Given the description of an element on the screen output the (x, y) to click on. 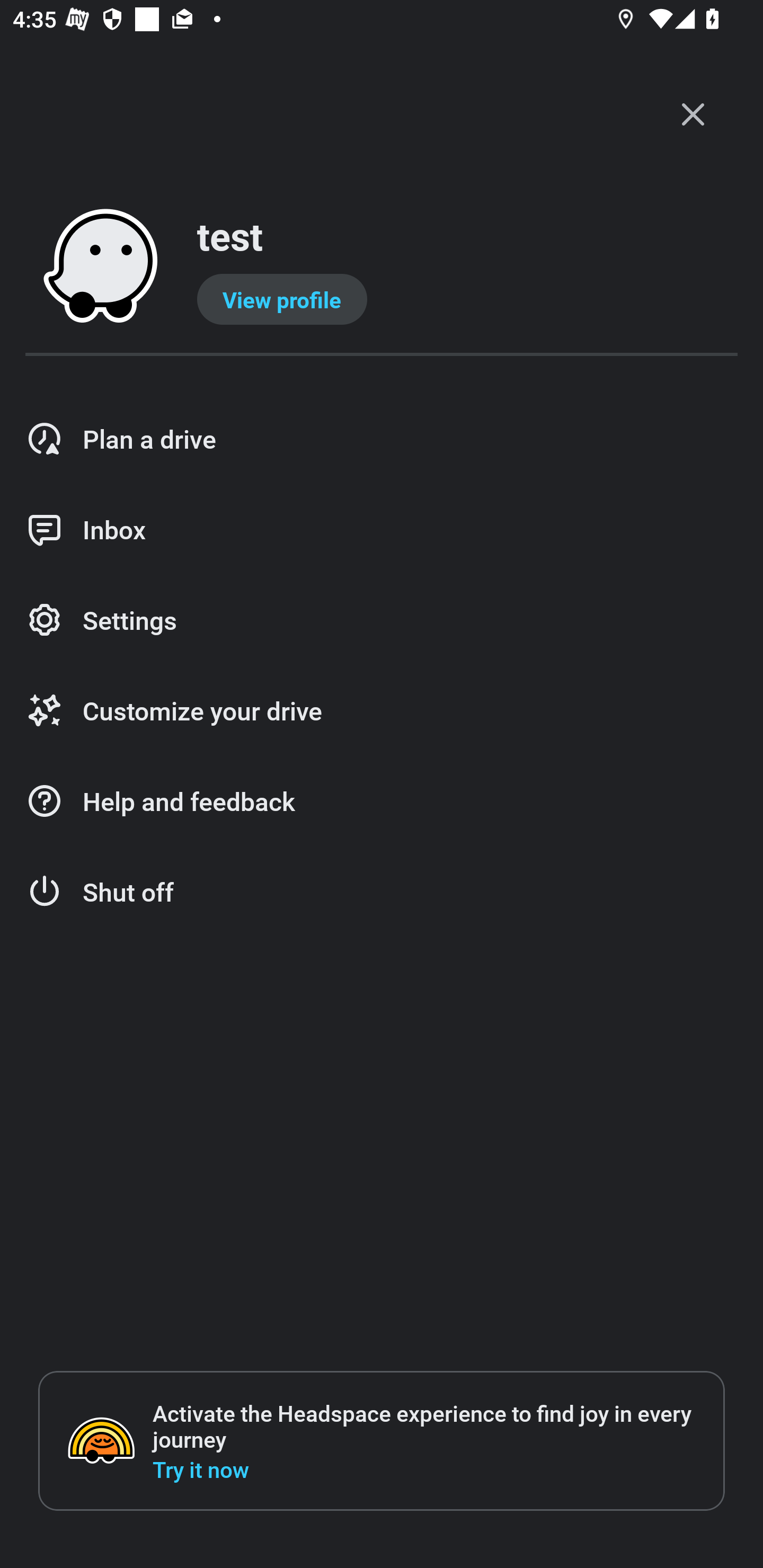
test View profile (381, 266)
View profile (281, 299)
ACTION_CELL_ICON Plan a drive ACTION_CELL_TEXT (381, 438)
ACTION_CELL_ICON Inbox ACTION_CELL_TEXT (381, 529)
ACTION_CELL_ICON Settings ACTION_CELL_TEXT (381, 620)
ACTION_CELL_ICON Shut off ACTION_CELL_TEXT (381, 891)
